Given the description of an element on the screen output the (x, y) to click on. 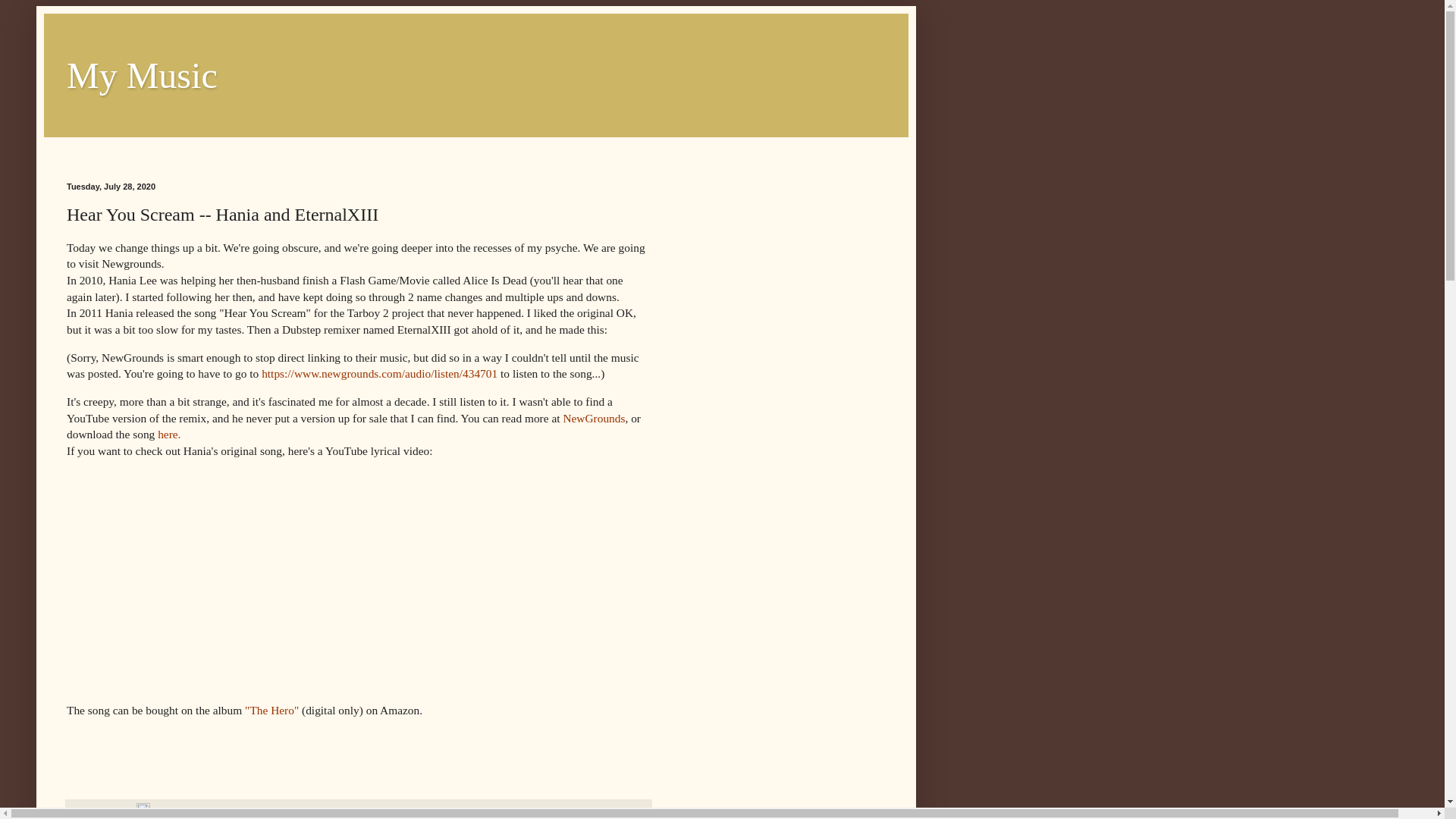
NewGrounds (593, 418)
July 28, 2020 (107, 813)
"The Hero" (271, 709)
My Music (141, 75)
Edit Post (142, 813)
permanent link (107, 813)
here. (168, 433)
